Given the description of an element on the screen output the (x, y) to click on. 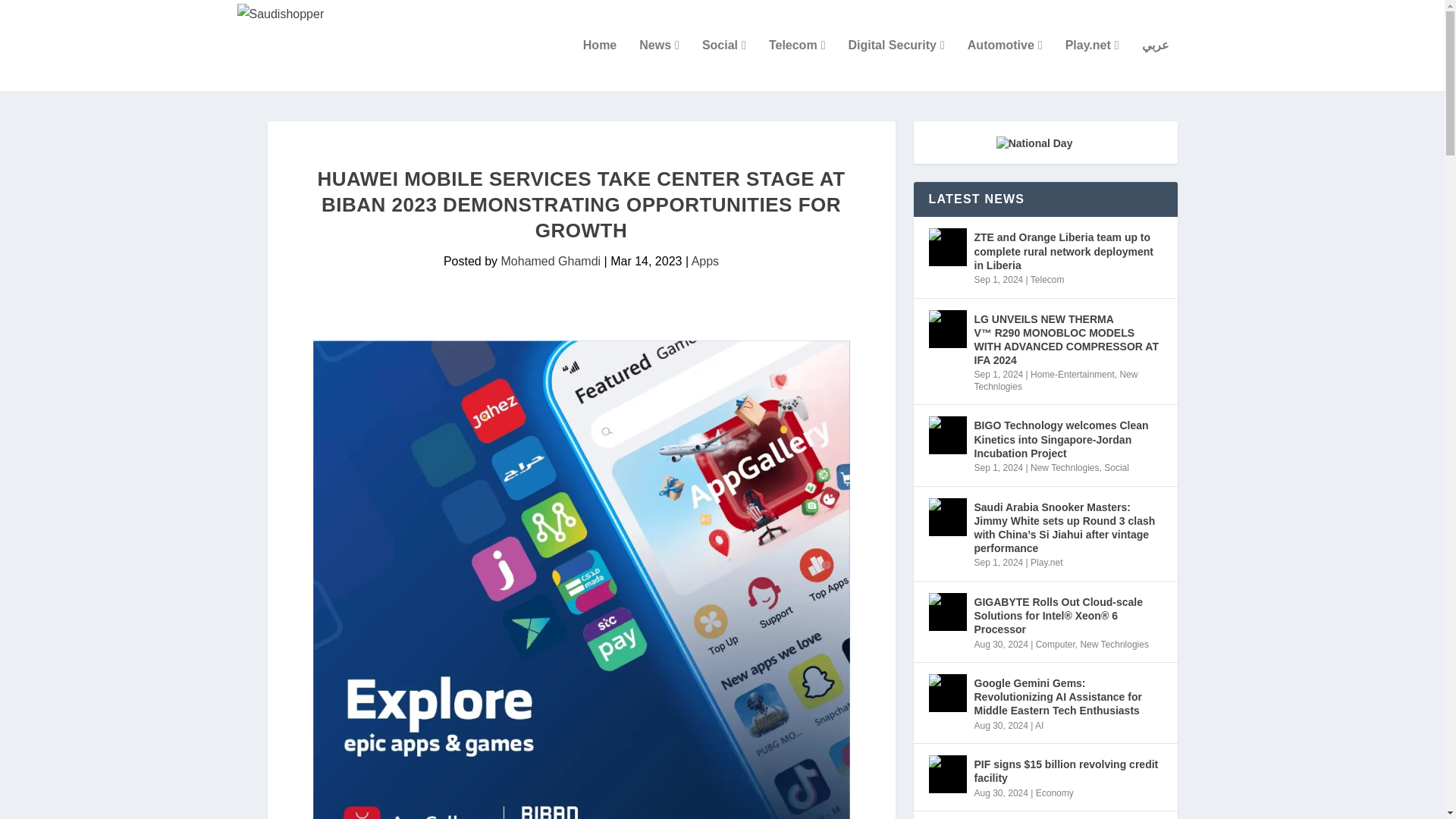
Automotive (1005, 64)
Telecom (796, 64)
Digital Security (895, 64)
